Given the description of an element on the screen output the (x, y) to click on. 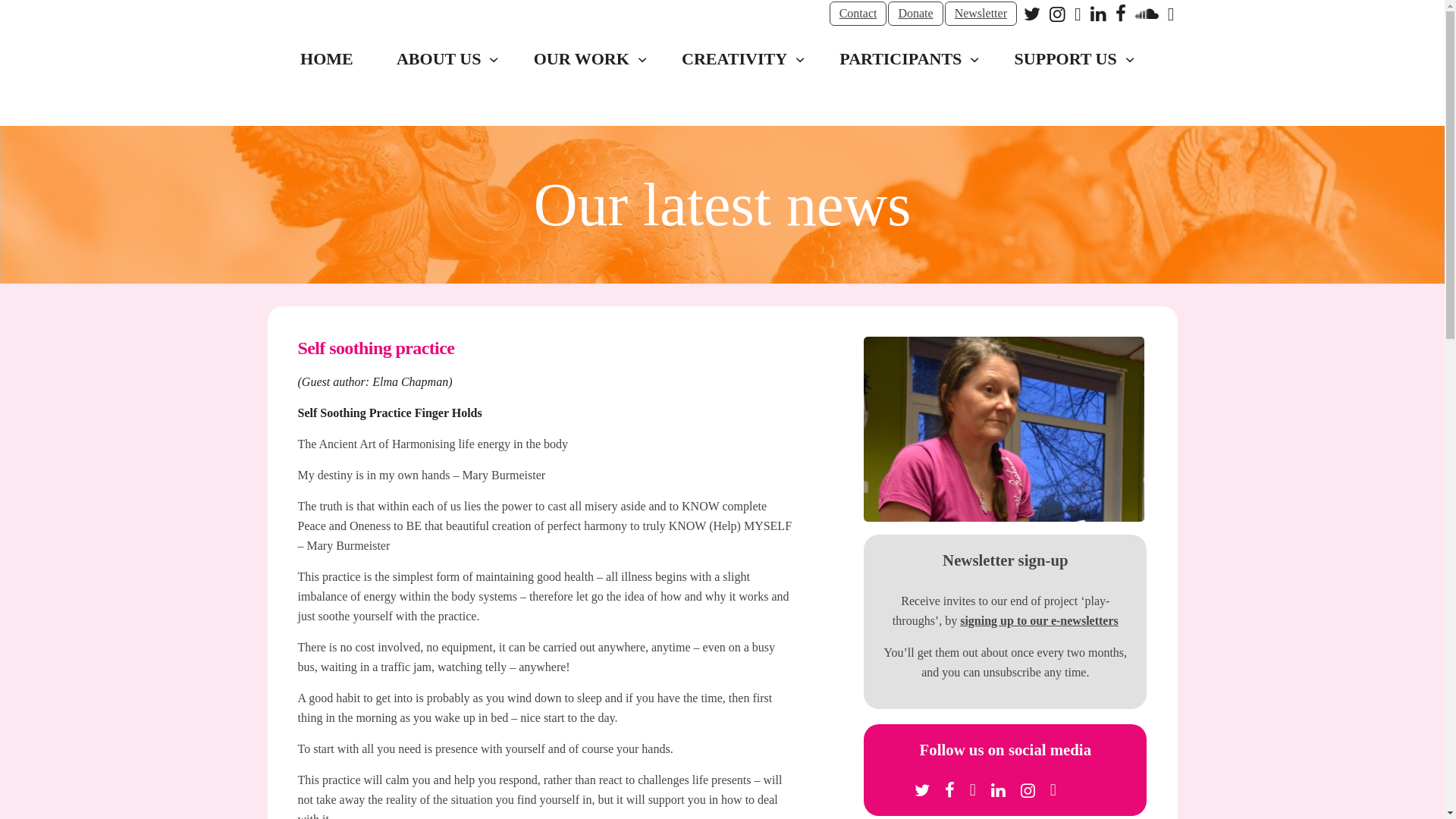
Donate (915, 13)
SUPPORT US (1069, 59)
PARTICIPANTS (905, 59)
ABOUT US (443, 59)
CREATIVITY (737, 59)
HOME (327, 59)
Contact (857, 13)
Newsletter (980, 13)
OUR WORK (585, 59)
